Given the description of an element on the screen output the (x, y) to click on. 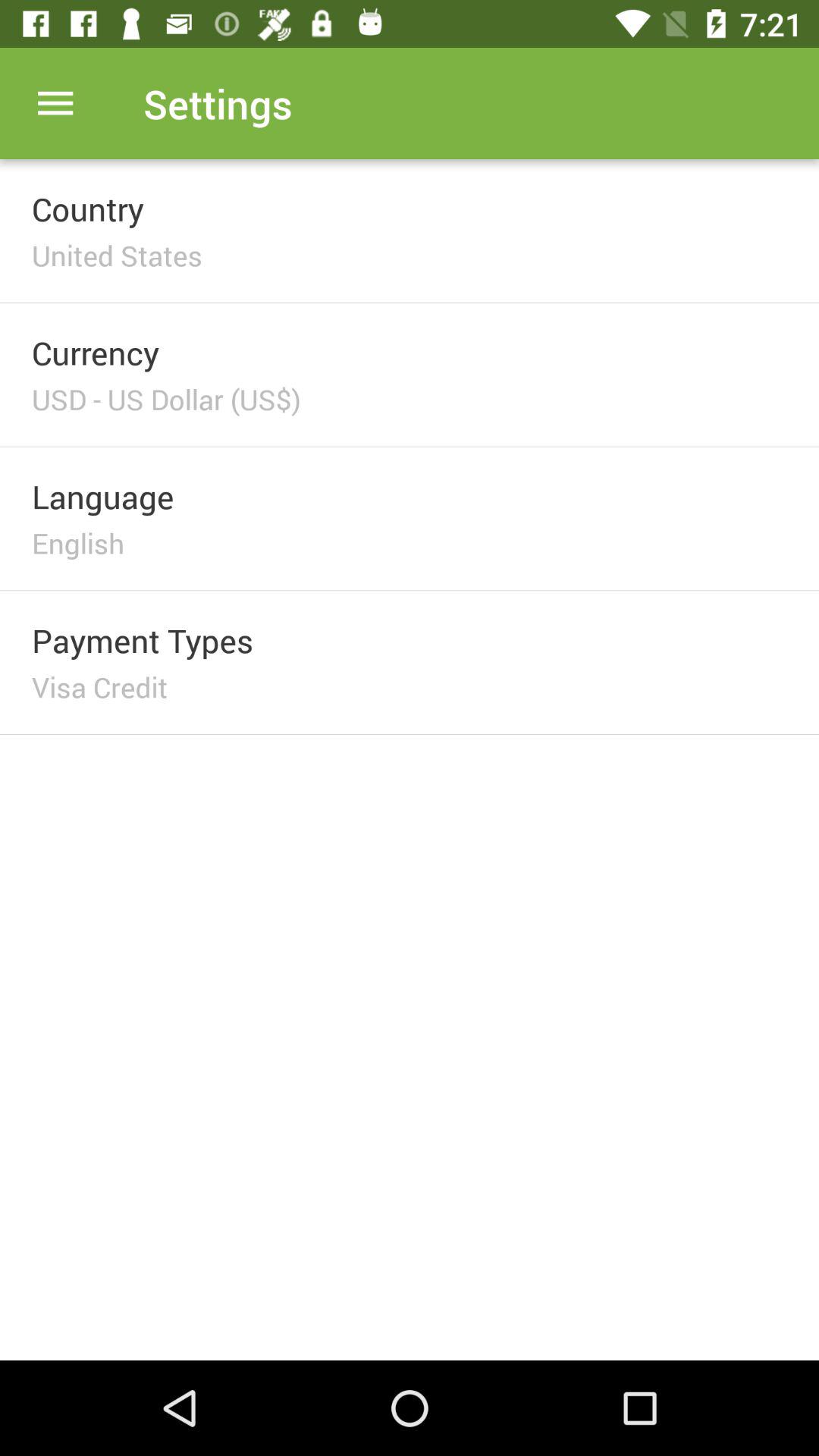
options menu (55, 103)
